Given the description of an element on the screen output the (x, y) to click on. 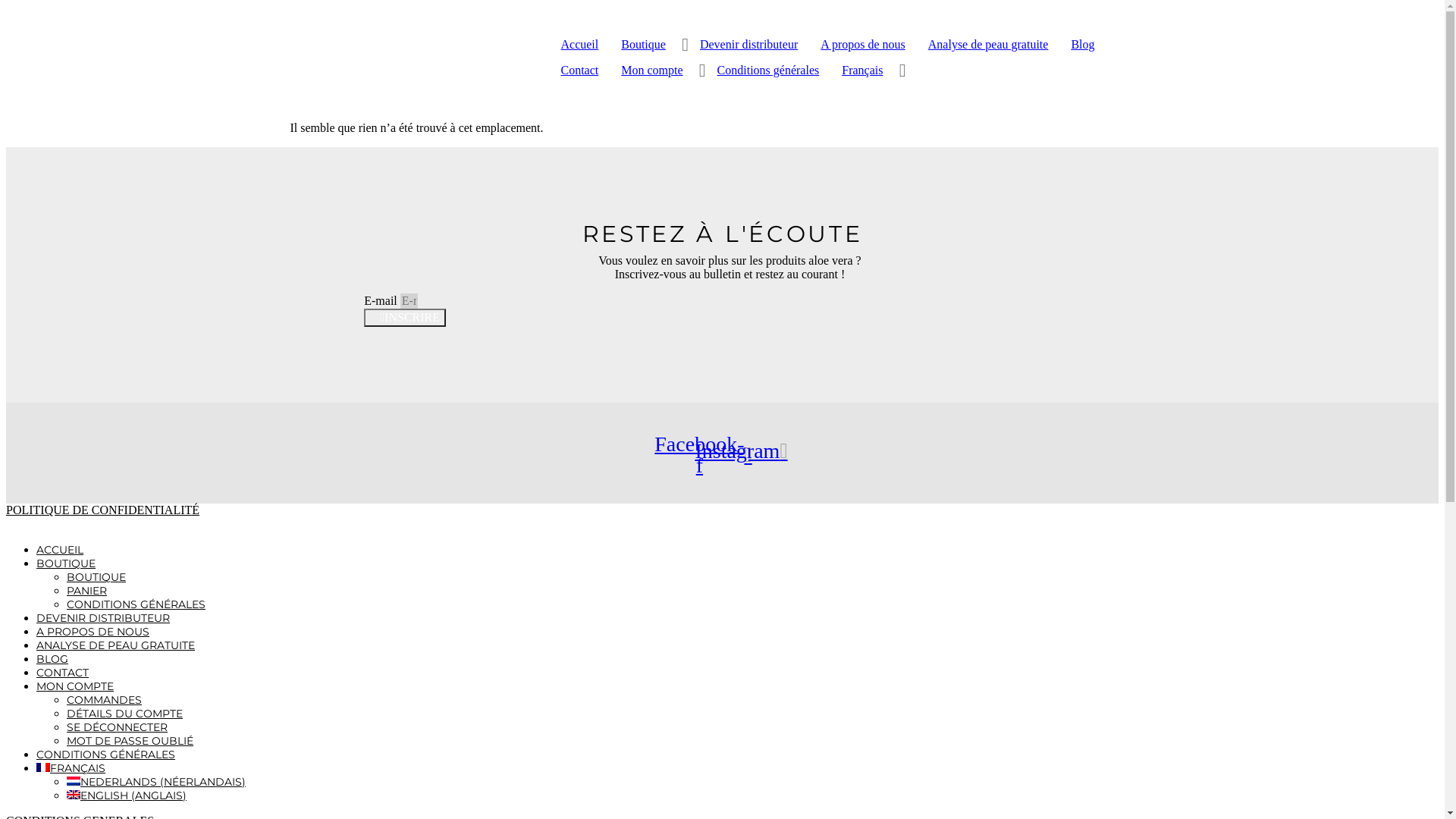
DEVENIR DISTRIBUTEUR Element type: text (102, 617)
INSCRIRE Element type: text (404, 317)
Facebook-f Element type: text (703, 454)
Devenir distributeur Element type: text (748, 44)
Analyse de peau gratuite Element type: text (988, 44)
PANIER Element type: text (86, 590)
ACCUEIL Element type: text (59, 549)
A PROPOS DE NOUS Element type: text (92, 631)
Instagram Element type: text (741, 450)
ENGLISH (ANGLAIS) Element type: text (126, 795)
Blog Element type: text (1082, 44)
ANALYSE DE PEAU GRATUITE Element type: text (115, 645)
BOUTIQUE Element type: text (95, 576)
BOUTIQUE Element type: text (65, 563)
Aller au contenu Element type: text (5, 5)
Accueil Element type: text (579, 44)
Contact Element type: text (579, 70)
Mon compte Element type: text (651, 70)
Accueil Element type: text (722, 131)
CONTACT Element type: text (62, 672)
MON COMPTE Element type: text (74, 686)
Boutique Element type: text (643, 44)
BLOG Element type: text (52, 658)
A propos de nous Element type: text (862, 44)
COMMANDES Element type: text (103, 699)
